Given the description of an element on the screen output the (x, y) to click on. 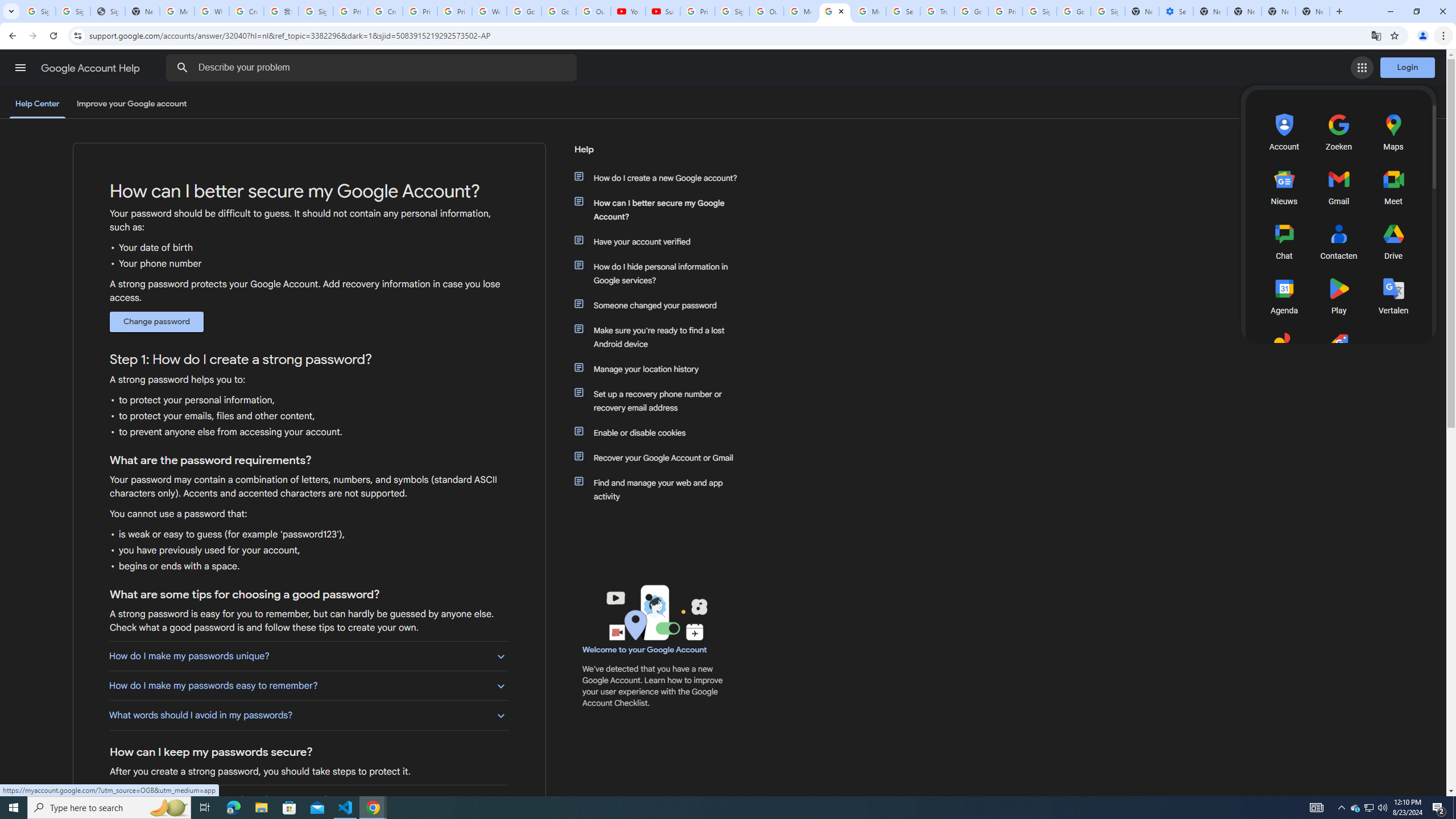
How do I hide personal information in Google services? (661, 273)
Who is my administrator? - Google Account Help (211, 11)
Describe your problem (373, 67)
How can I better secure my Google Account? (661, 209)
Settings - Performance (1176, 11)
What is the best way to store written down passwords? (308, 799)
Learning Center home page image (655, 612)
